Given the description of an element on the screen output the (x, y) to click on. 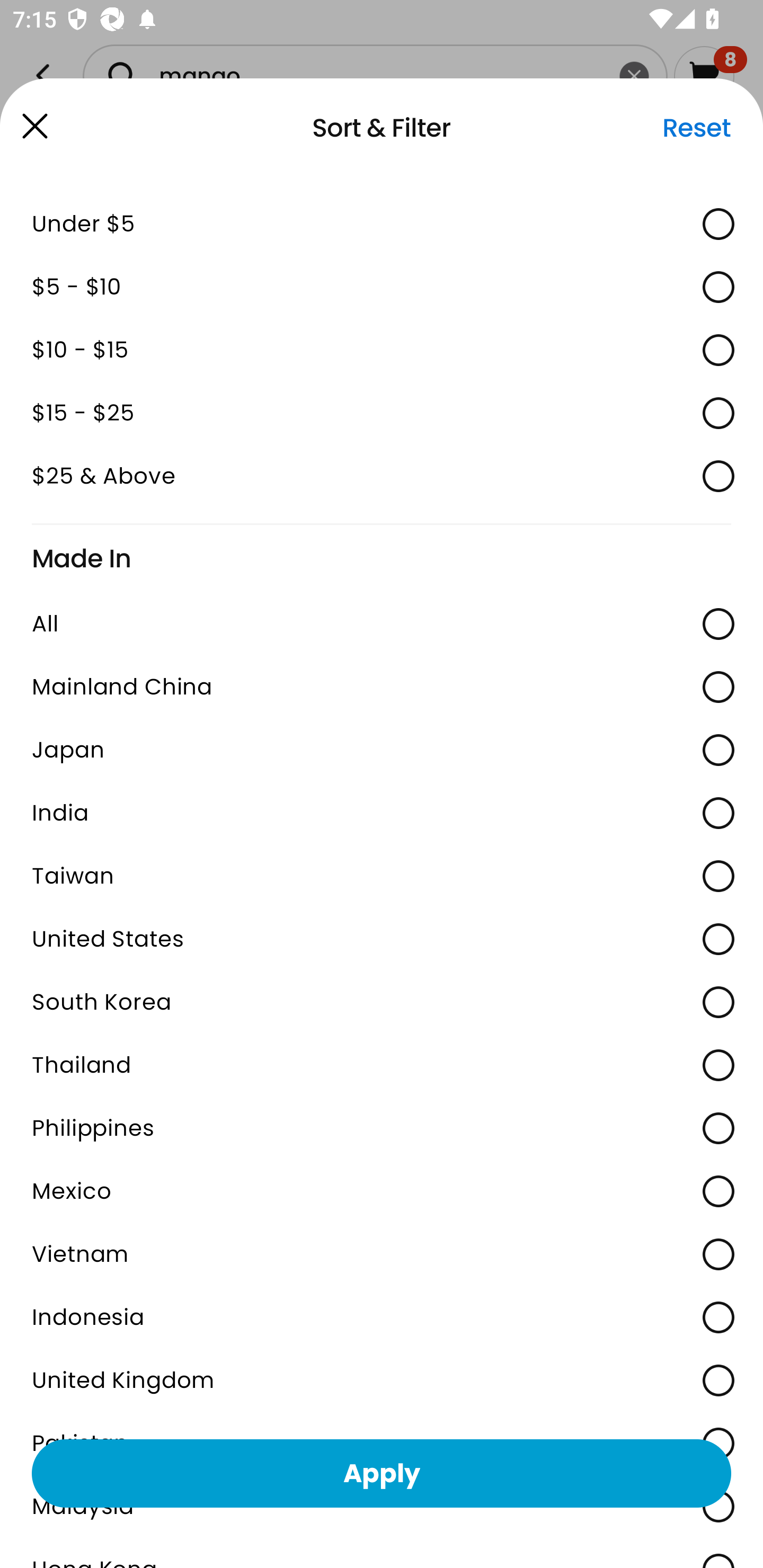
Reset (696, 127)
